Given the description of an element on the screen output the (x, y) to click on. 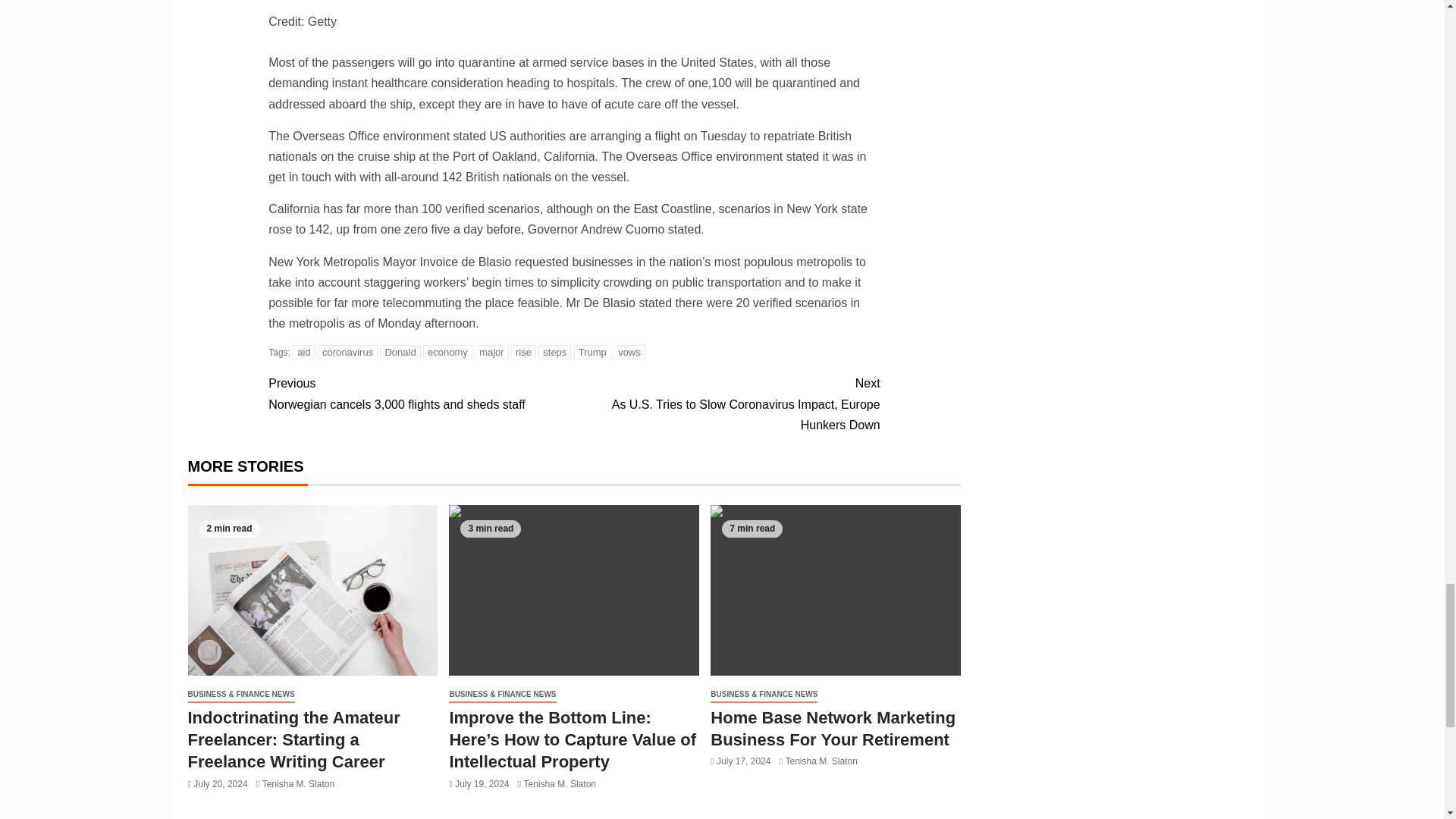
aid (303, 351)
coronavirus (347, 351)
rise (523, 351)
Trump (592, 351)
major (491, 351)
steps (554, 351)
Home Base Network Marketing Business For Your Retirement (835, 590)
economy (447, 351)
Donald (400, 351)
